Given the description of an element on the screen output the (x, y) to click on. 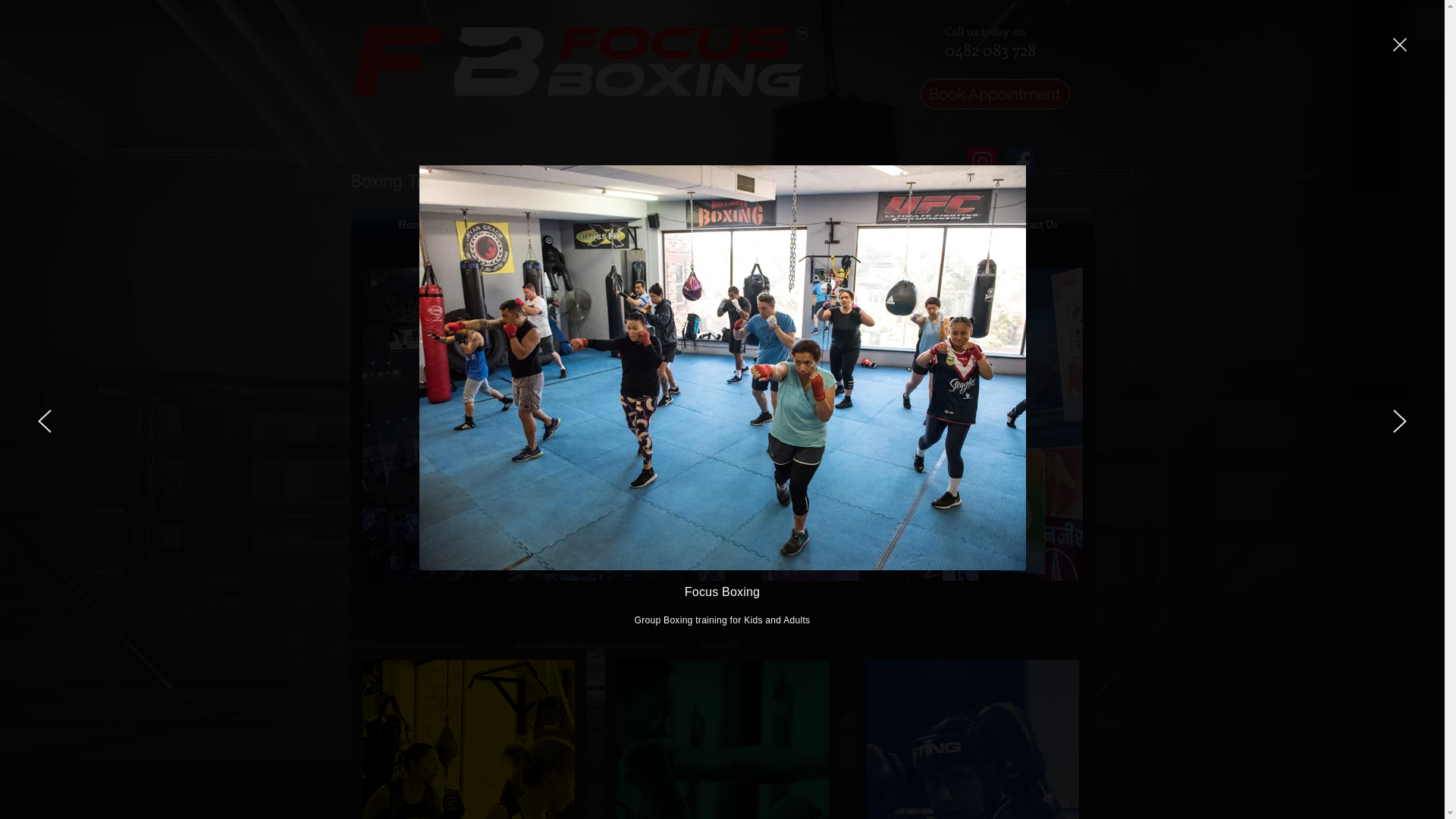
Book Appointment Element type: text (995, 93)
FAQ Element type: text (908, 224)
About FBC Element type: text (537, 224)
Home Element type: text (412, 224)
Gallery Element type: text (784, 224)
Class Timetable Element type: text (661, 224)
Contact Us Element type: text (1031, 224)
JOIN US Element type: text (981, 548)
Log In Element type: text (1065, 161)
